Given the description of an element on the screen output the (x, y) to click on. 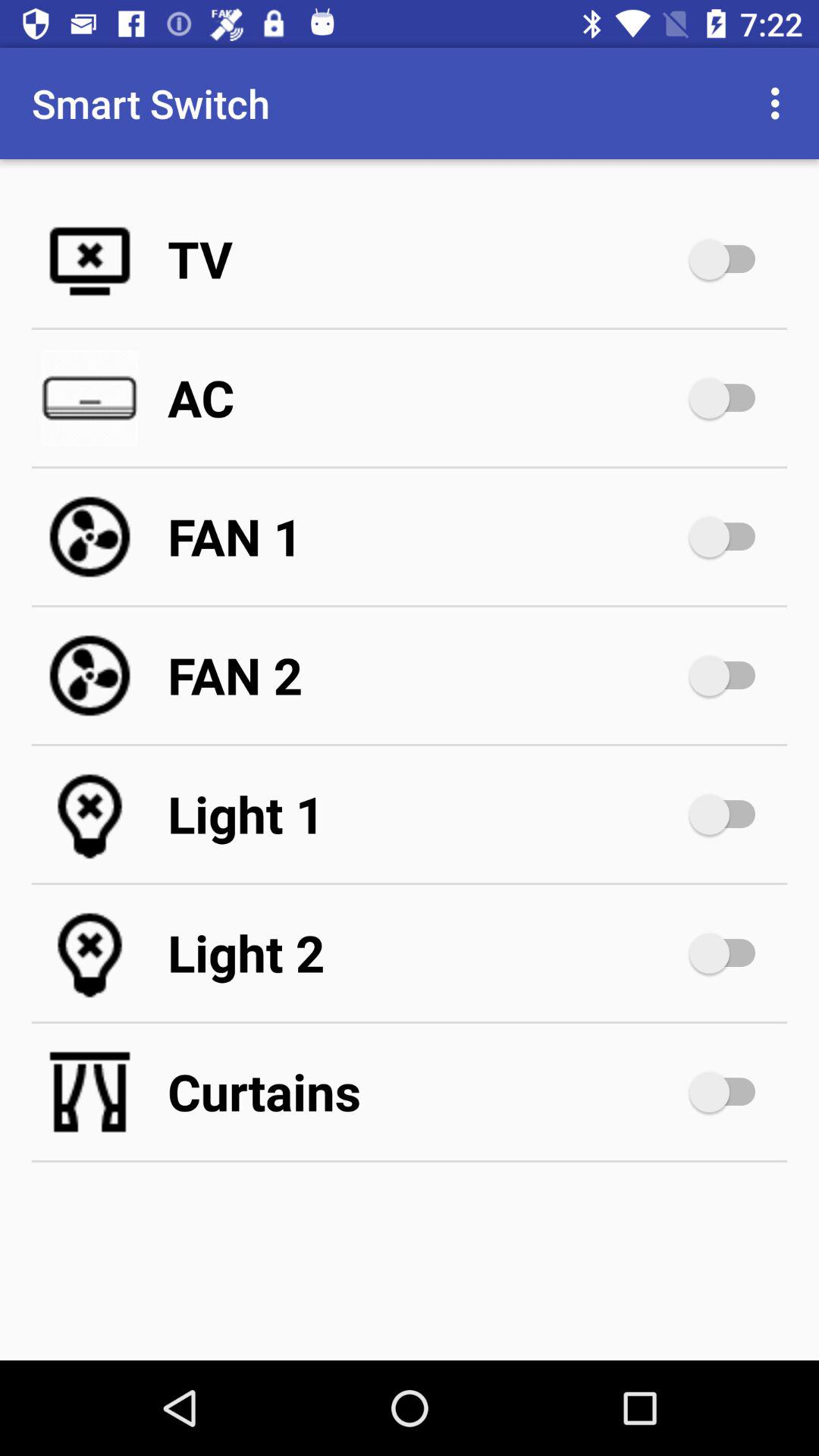
select curtains (424, 1091)
